Given the description of an element on the screen output the (x, y) to click on. 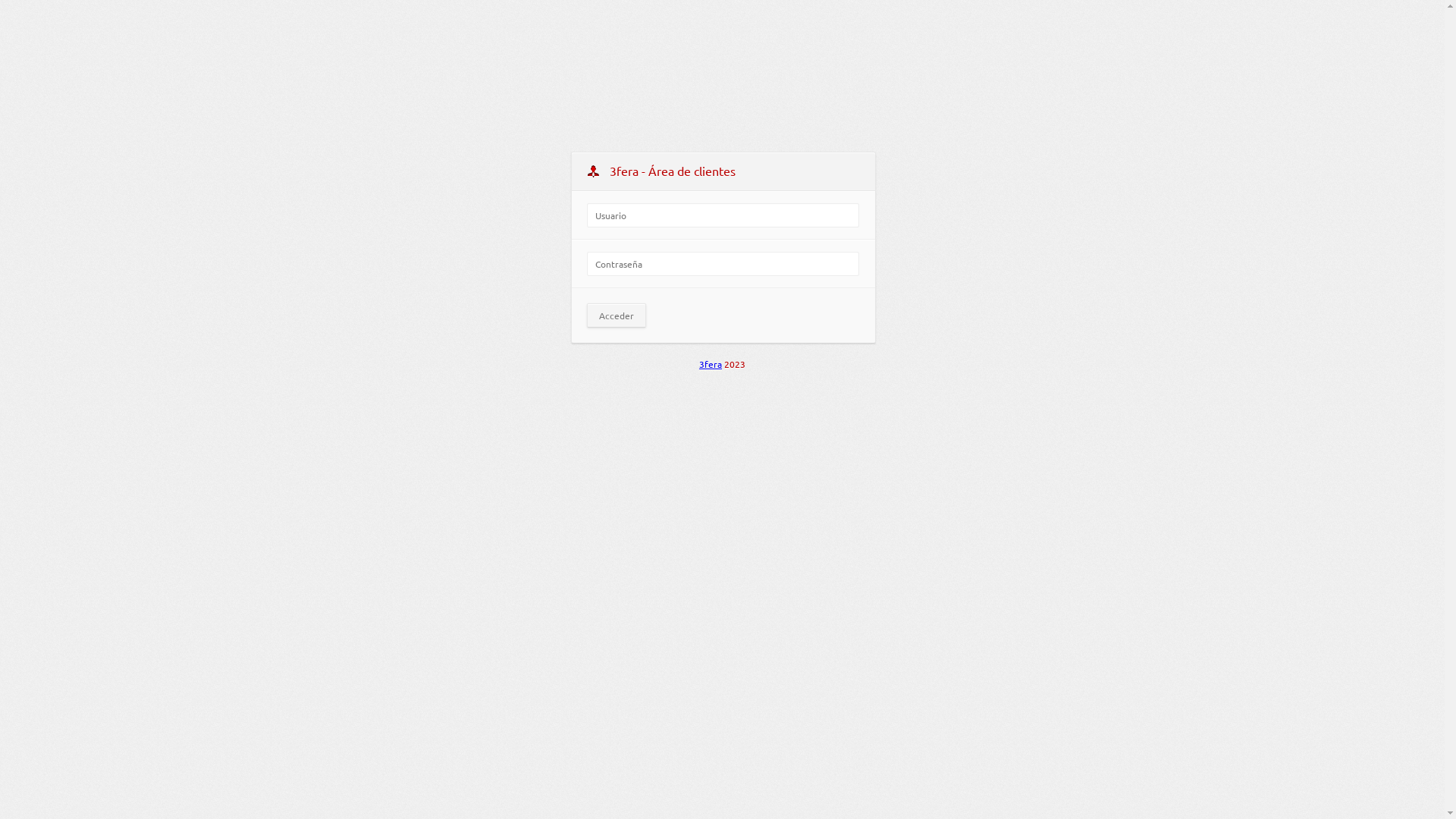
3fera Element type: text (710, 363)
Acceder Element type: text (616, 315)
